Given the description of an element on the screen output the (x, y) to click on. 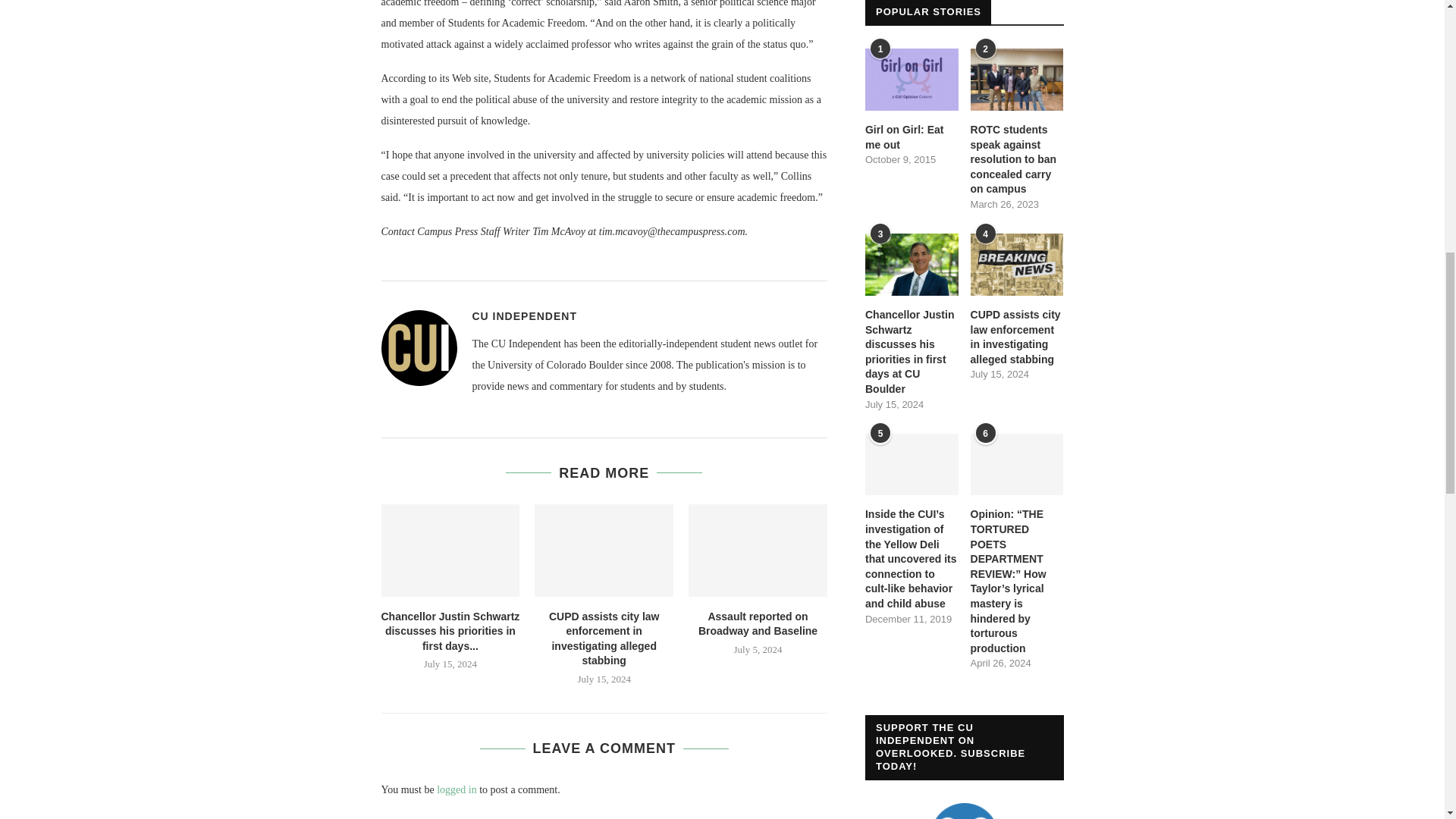
Assault reported on Broadway and Baseline (757, 550)
Posts by CU Independent (523, 316)
Girl on Girl: Eat me out (911, 79)
Girl on Girl: Eat me out (911, 137)
